Given the description of an element on the screen output the (x, y) to click on. 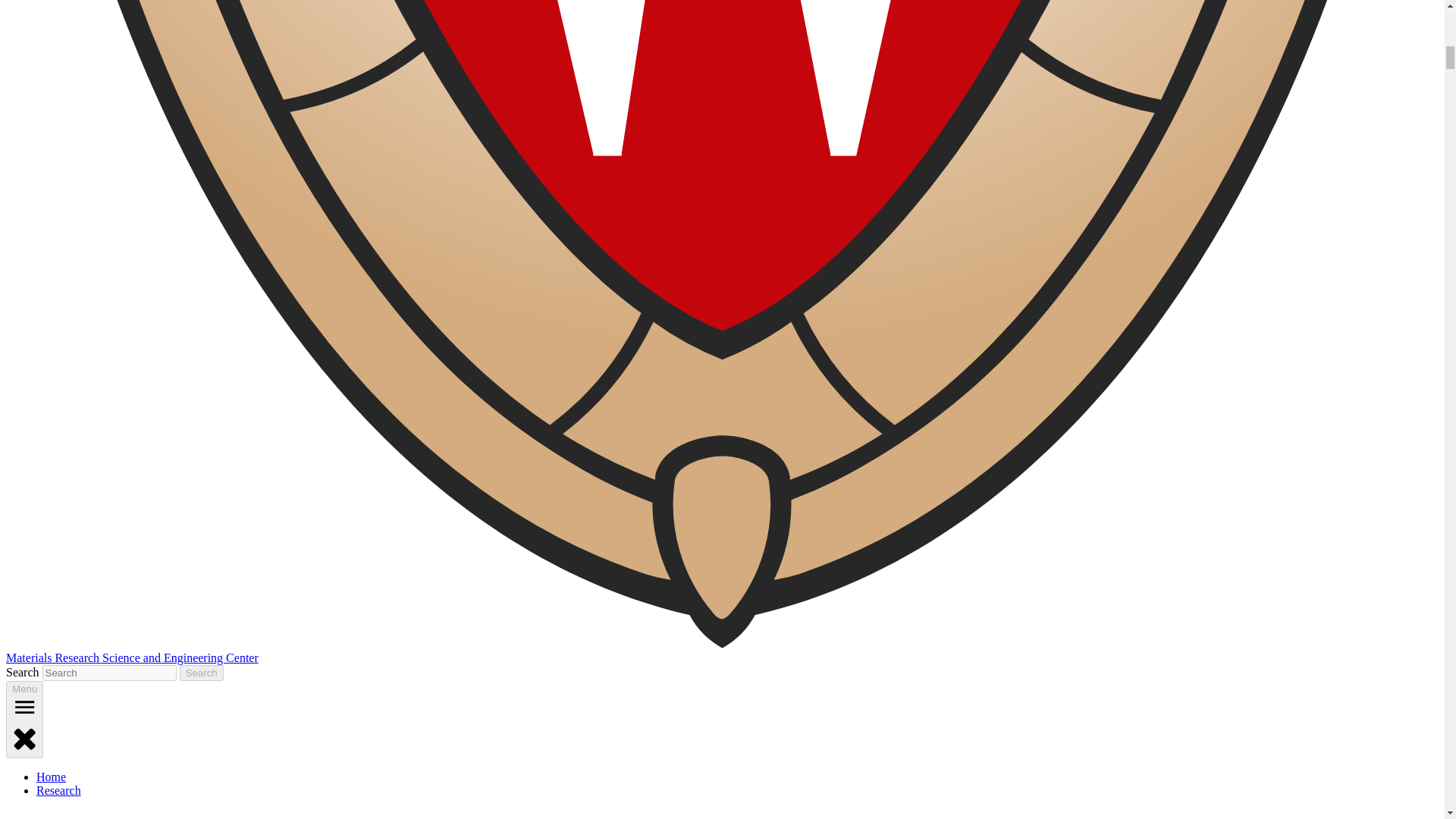
Search (201, 672)
open menu (24, 706)
Materials Research Science and Engineering Center (132, 657)
Home (50, 776)
Search (201, 672)
Search (201, 672)
